Given the description of an element on the screen output the (x, y) to click on. 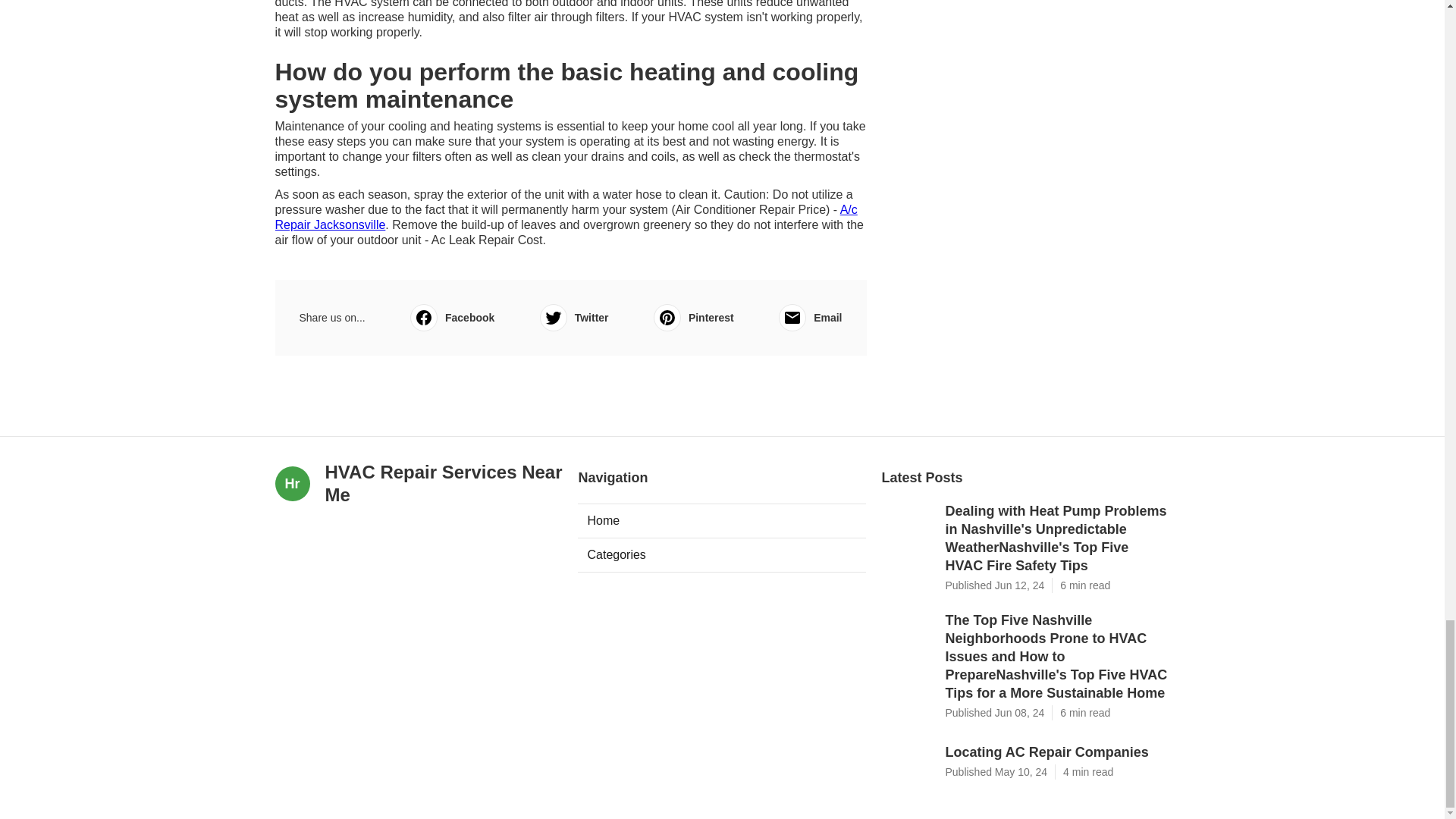
Twitter (574, 317)
Pinterest (693, 317)
Facebook (452, 317)
Email (809, 317)
